Given the description of an element on the screen output the (x, y) to click on. 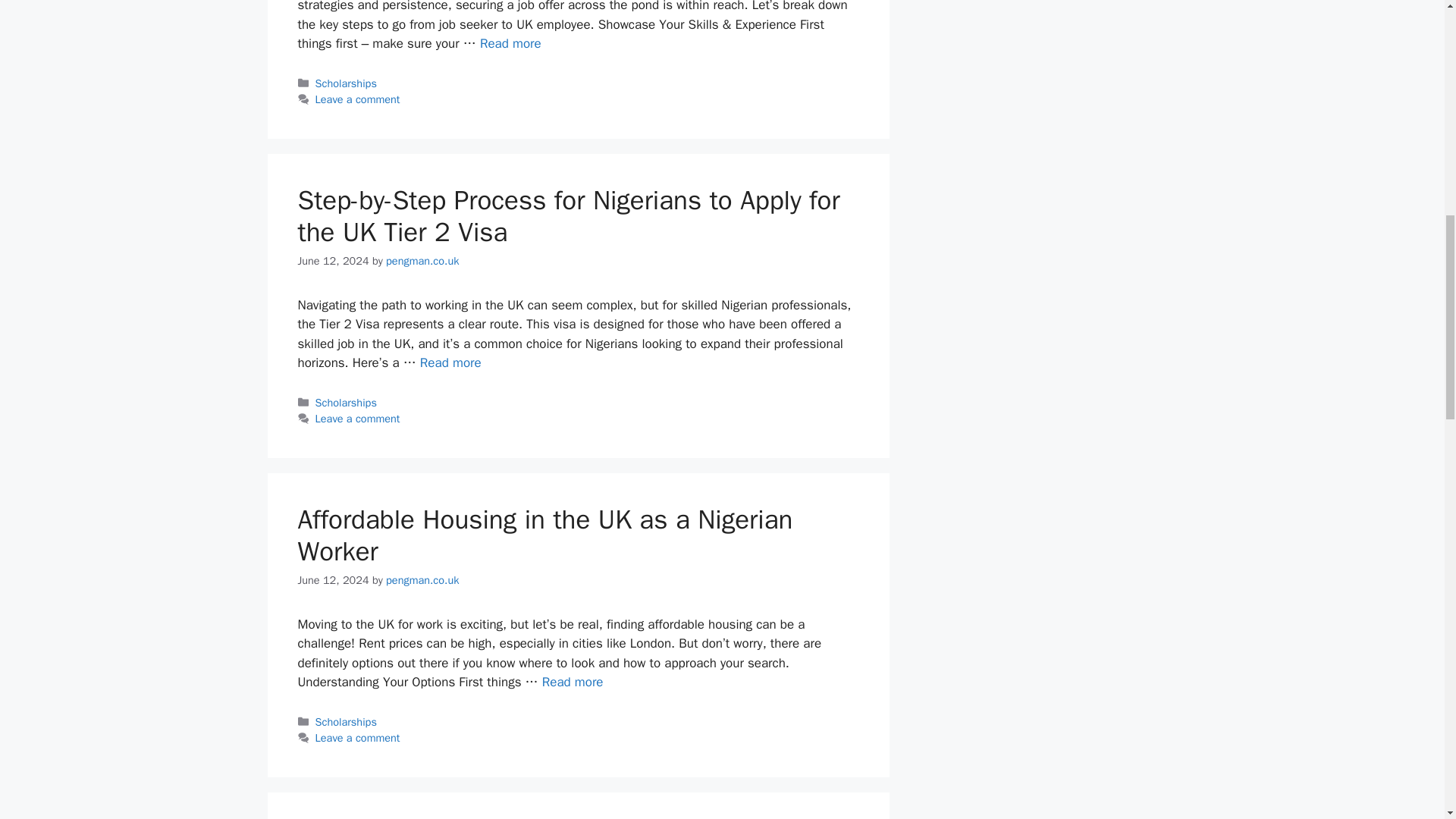
Affordable Housing in the UK as a Nigerian Worker (572, 682)
Leave a comment (357, 99)
Read more (510, 43)
Scholarships (346, 402)
Affordable Housing in the UK as a Nigerian Worker (544, 535)
Leave a comment (357, 418)
How to Secure a UK Job Offer from Nigeria (510, 43)
Scholarships (346, 83)
View all posts by pengman.co.uk (421, 580)
Read more (572, 682)
Scholarships (346, 721)
pengman.co.uk (421, 260)
Leave a comment (357, 737)
